Given the description of an element on the screen output the (x, y) to click on. 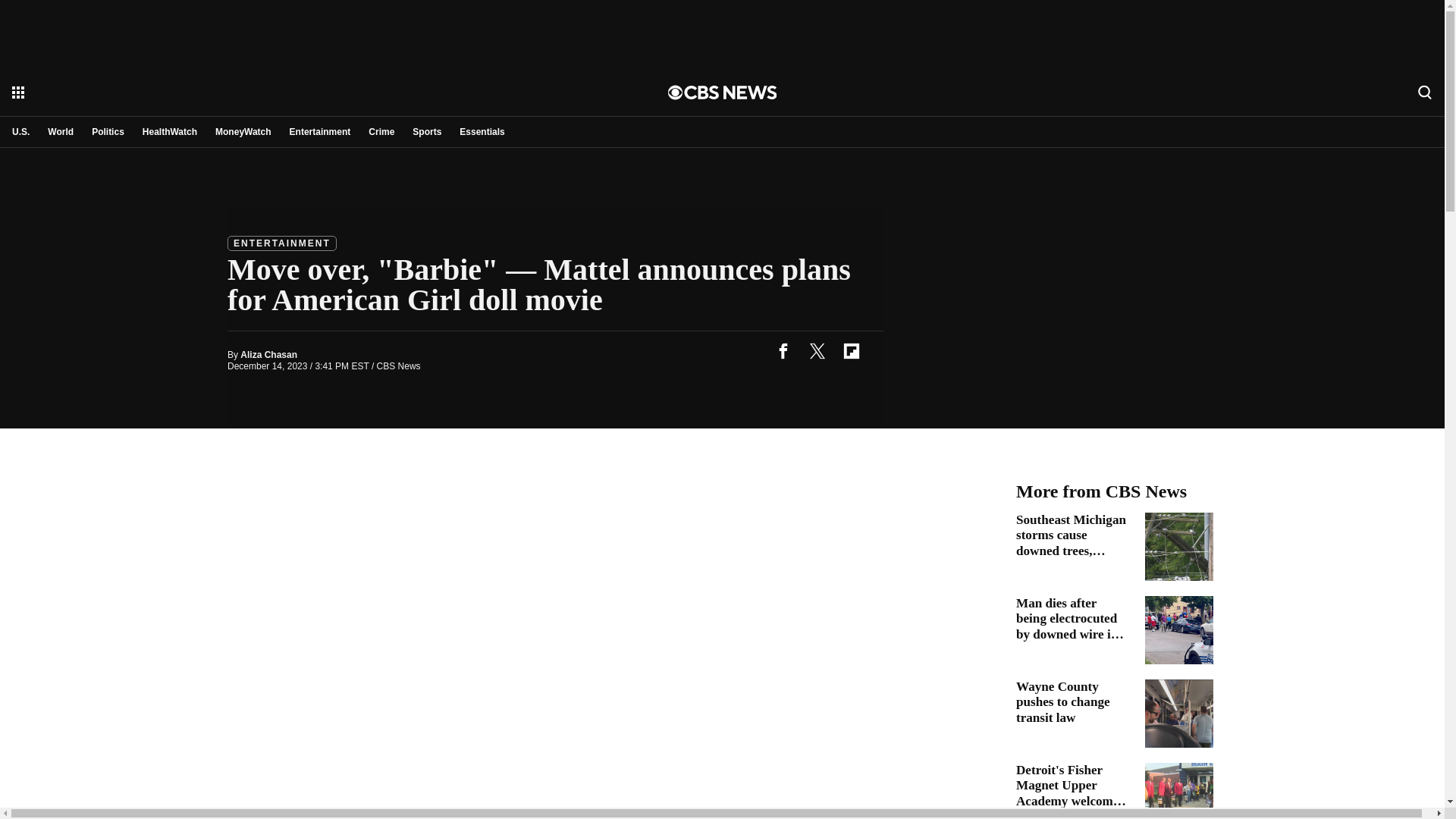
twitter (816, 350)
flipboard (850, 350)
facebook (782, 350)
